Given the description of an element on the screen output the (x, y) to click on. 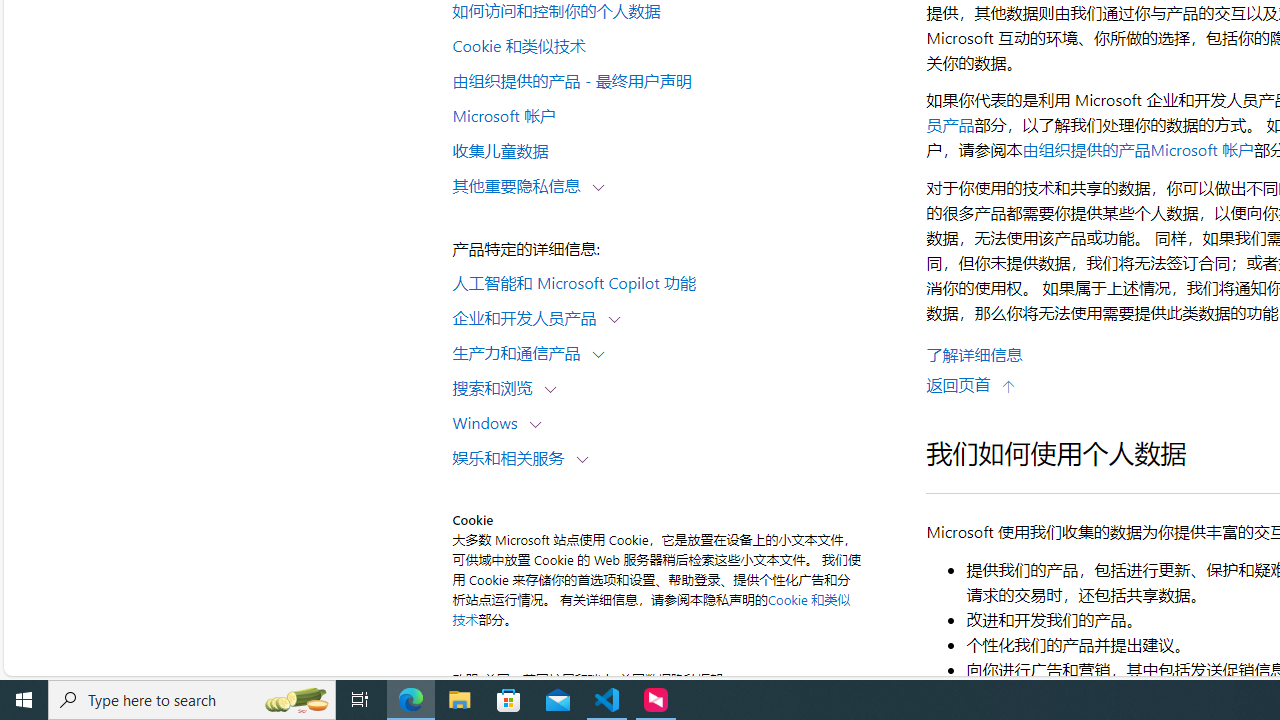
Windows (489, 421)
